Given the description of an element on the screen output the (x, y) to click on. 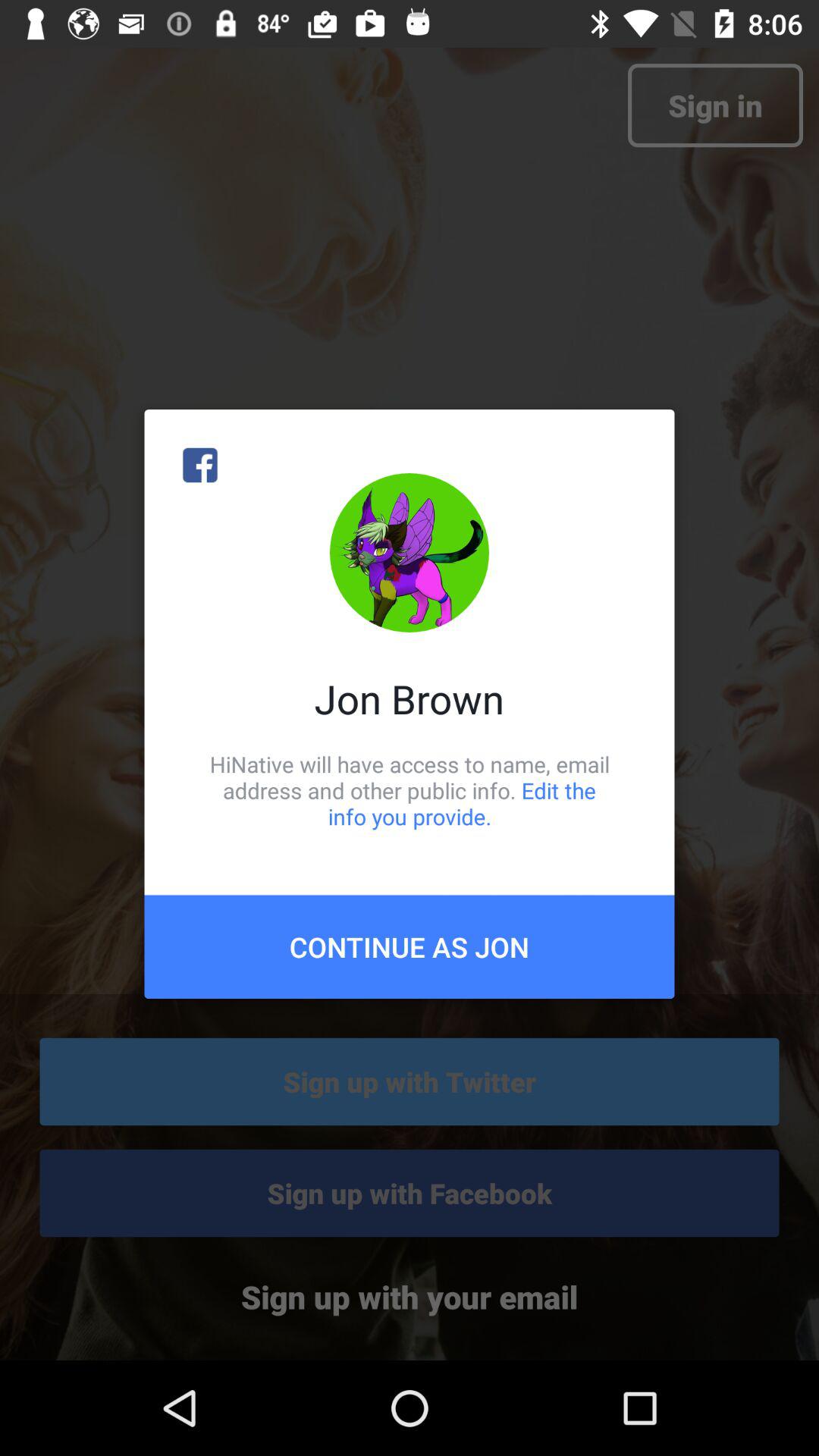
select the icon below hinative will have icon (409, 946)
